Given the description of an element on the screen output the (x, y) to click on. 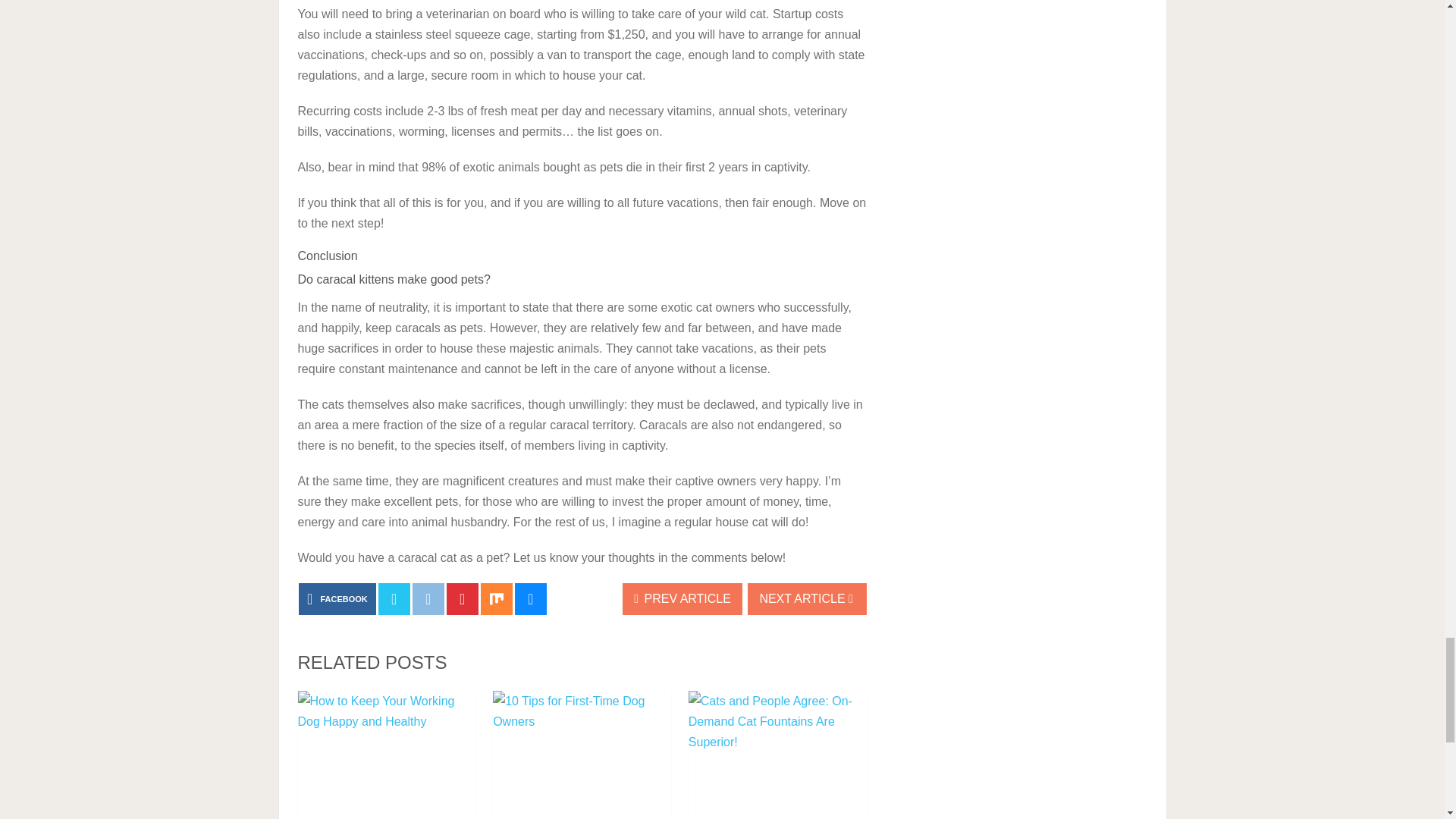
NEXT ARTICLE (807, 599)
FACEBOOK (336, 599)
How to Keep Your Working Dog Happy and Healthy (386, 755)
10 Tips for First-Time Dog Owners (582, 755)
PREV ARTICLE (682, 599)
Cats and People Agree: On-Demand Cat Fountains Are Superior! (777, 755)
